Given the description of an element on the screen output the (x, y) to click on. 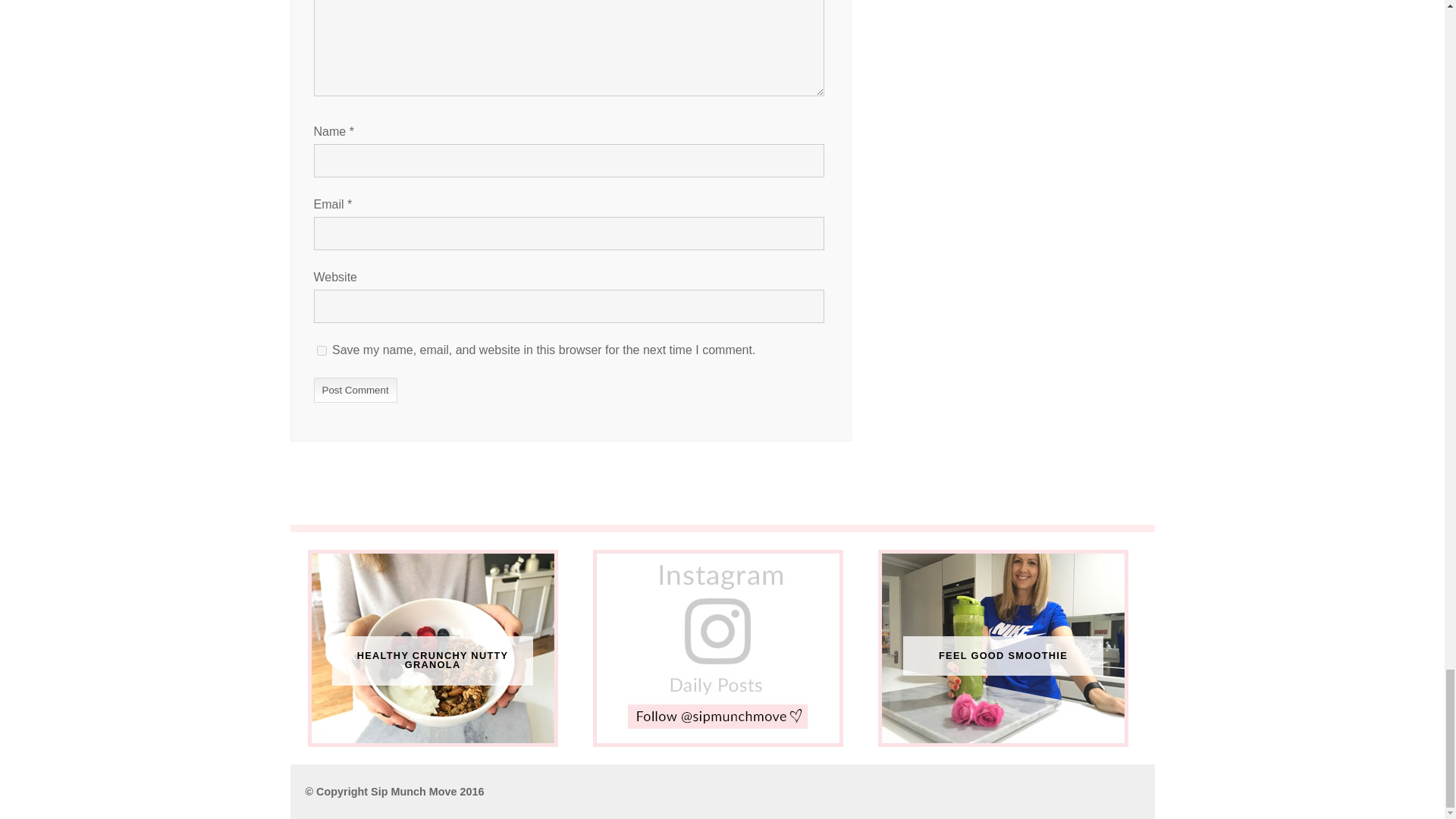
yes (321, 350)
Post Comment (355, 389)
Post Comment (355, 389)
